Given the description of an element on the screen output the (x, y) to click on. 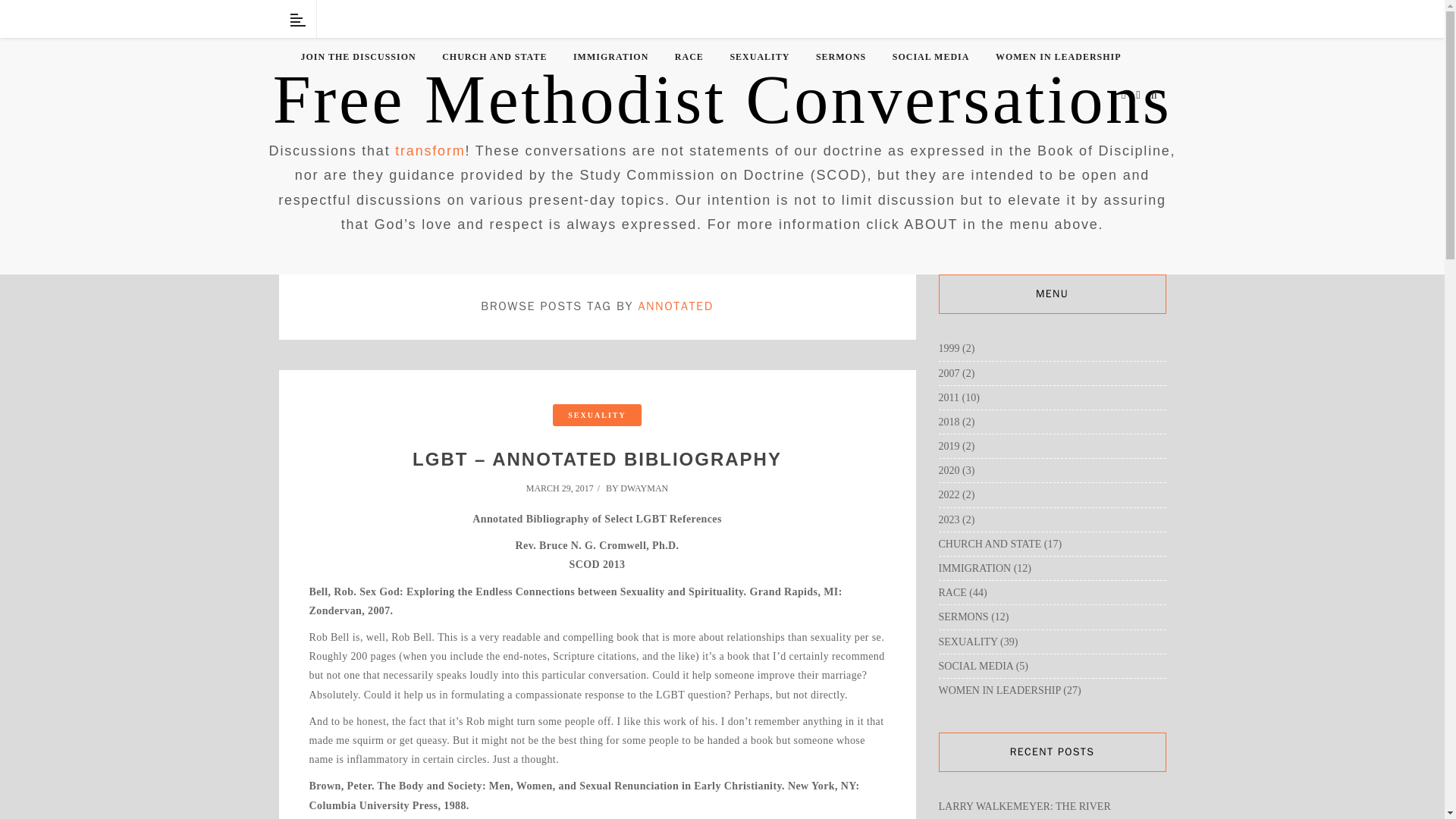
SOCIAL MEDIA (930, 56)
MARCH 29, 2017 (564, 488)
CHURCH AND STATE (494, 56)
1999 (949, 348)
2007 (949, 373)
DWAYMAN (644, 488)
JOIN THE DISCUSSION (356, 56)
2019 (949, 446)
SEXUALITY (759, 56)
WOMEN IN LEADERSHIP (1058, 56)
SEXUALITY (596, 414)
RACE (689, 56)
SERMONS (840, 56)
Free Methodist Conversations (722, 99)
2011 (949, 397)
